Given the description of an element on the screen output the (x, y) to click on. 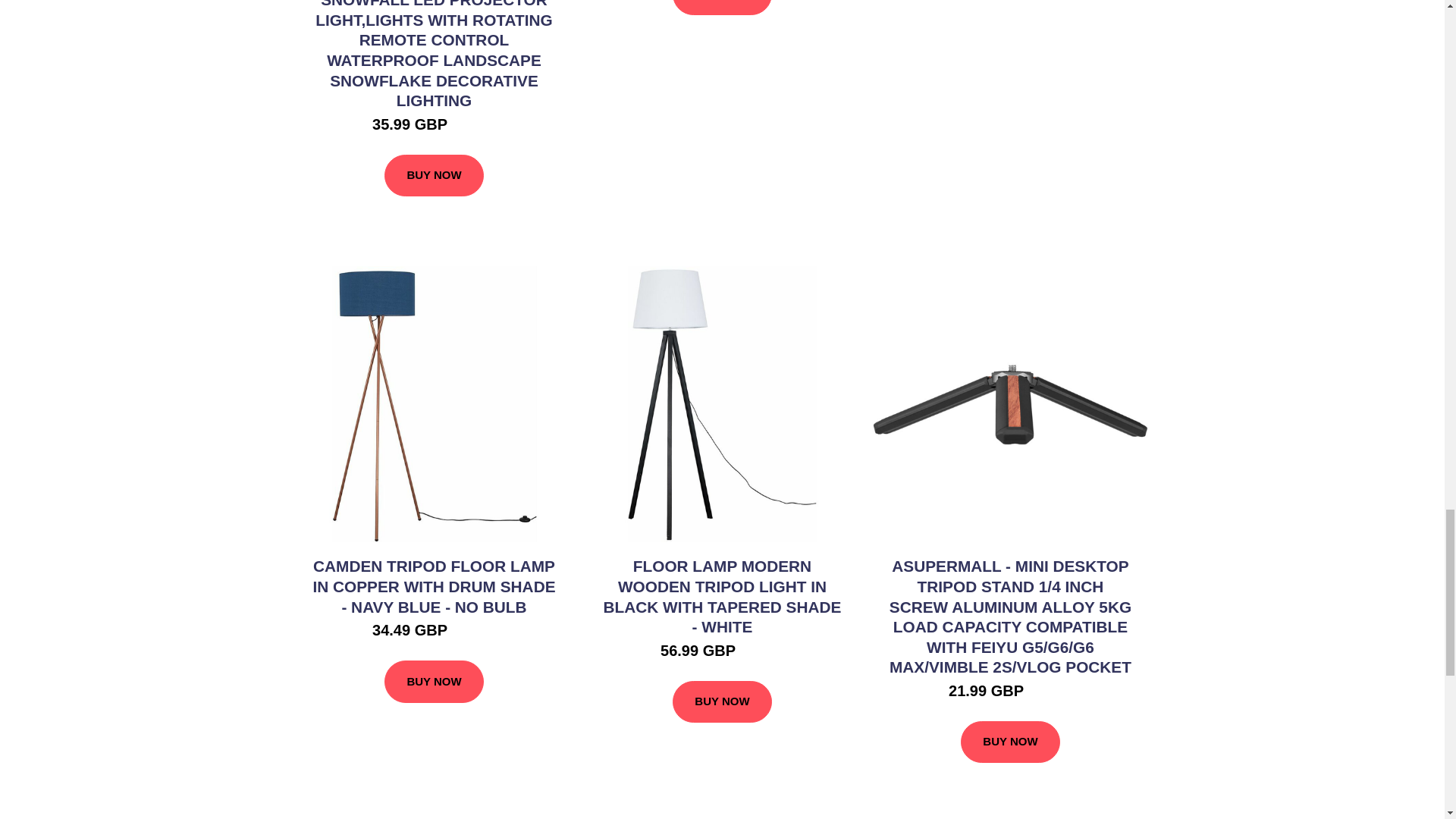
BUY NOW (721, 7)
BUY NOW (433, 175)
